Given the description of an element on the screen output the (x, y) to click on. 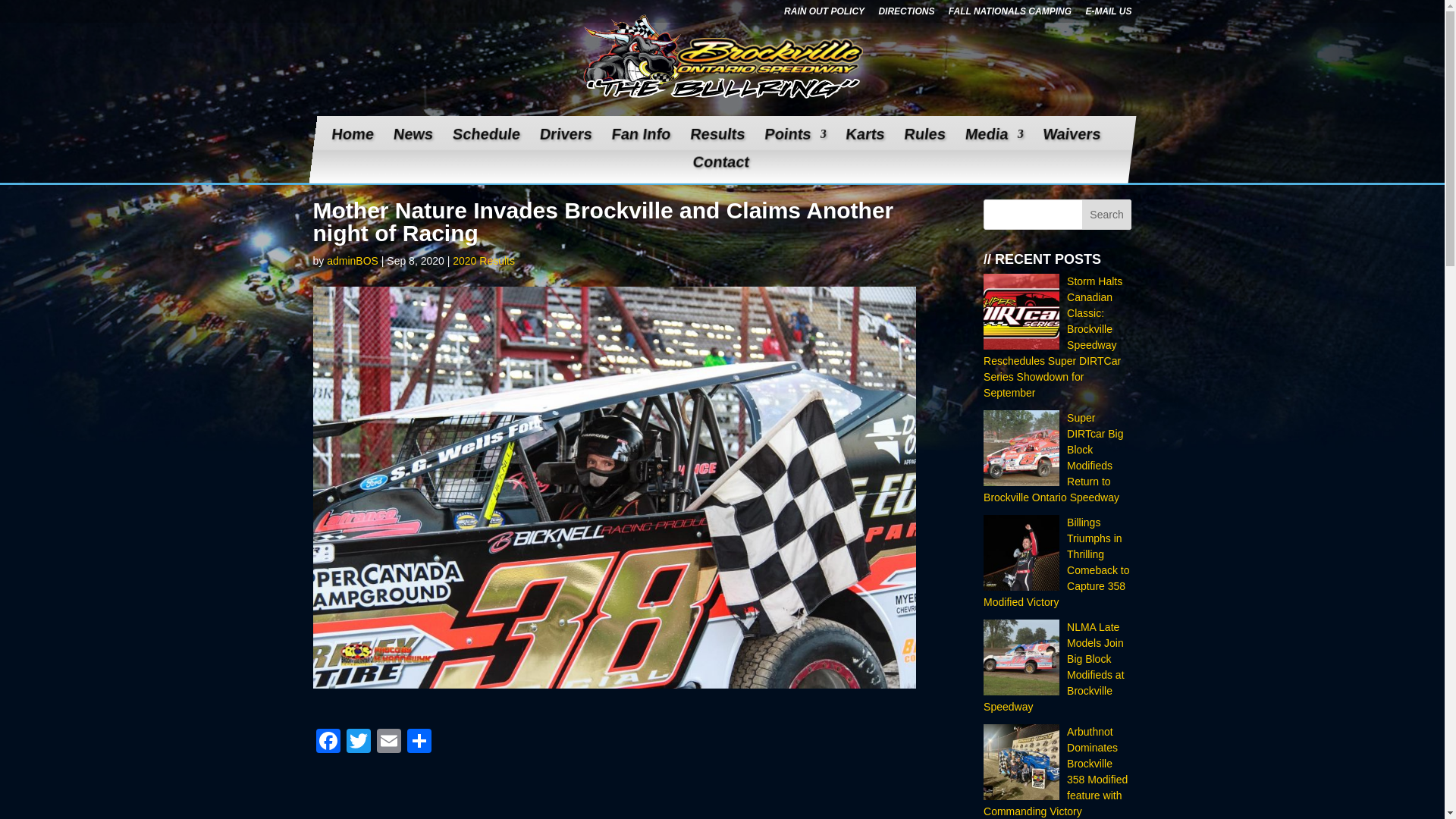
Karts (862, 142)
Drivers (563, 142)
DIRECTIONS (905, 14)
Results (714, 142)
Rules (921, 142)
Twitter (357, 742)
Fan Info (638, 142)
Posts by adminBOS (352, 260)
E-MAIL US (1107, 14)
RAIN OUT POLICY (824, 14)
Schedule (482, 142)
Facebook (327, 742)
News (409, 142)
Home (350, 142)
Waivers (1068, 142)
